Given the description of an element on the screen output the (x, y) to click on. 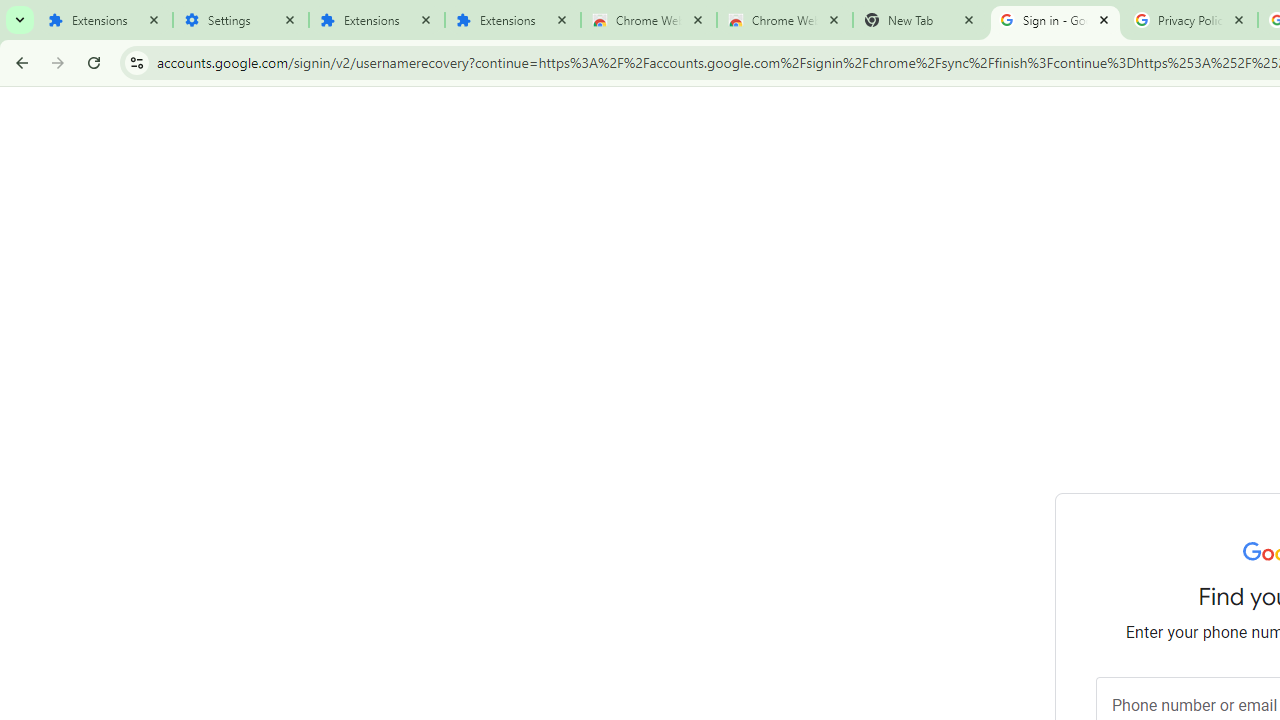
Sign in - Google Accounts (1055, 20)
